Given the description of an element on the screen output the (x, y) to click on. 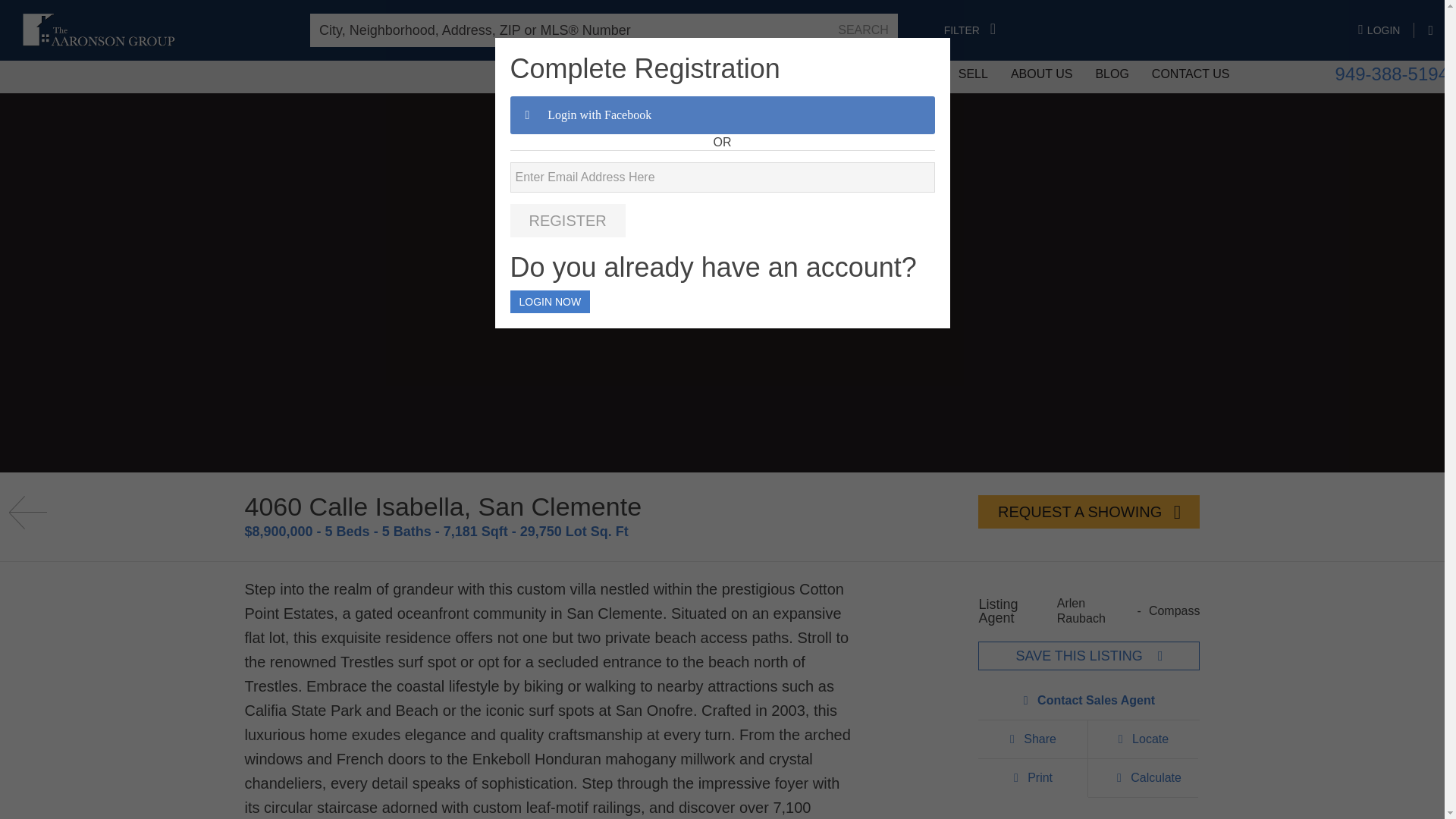
FILTER (969, 29)
LOGIN (1385, 29)
SEARCH (863, 29)
